Given the description of an element on the screen output the (x, y) to click on. 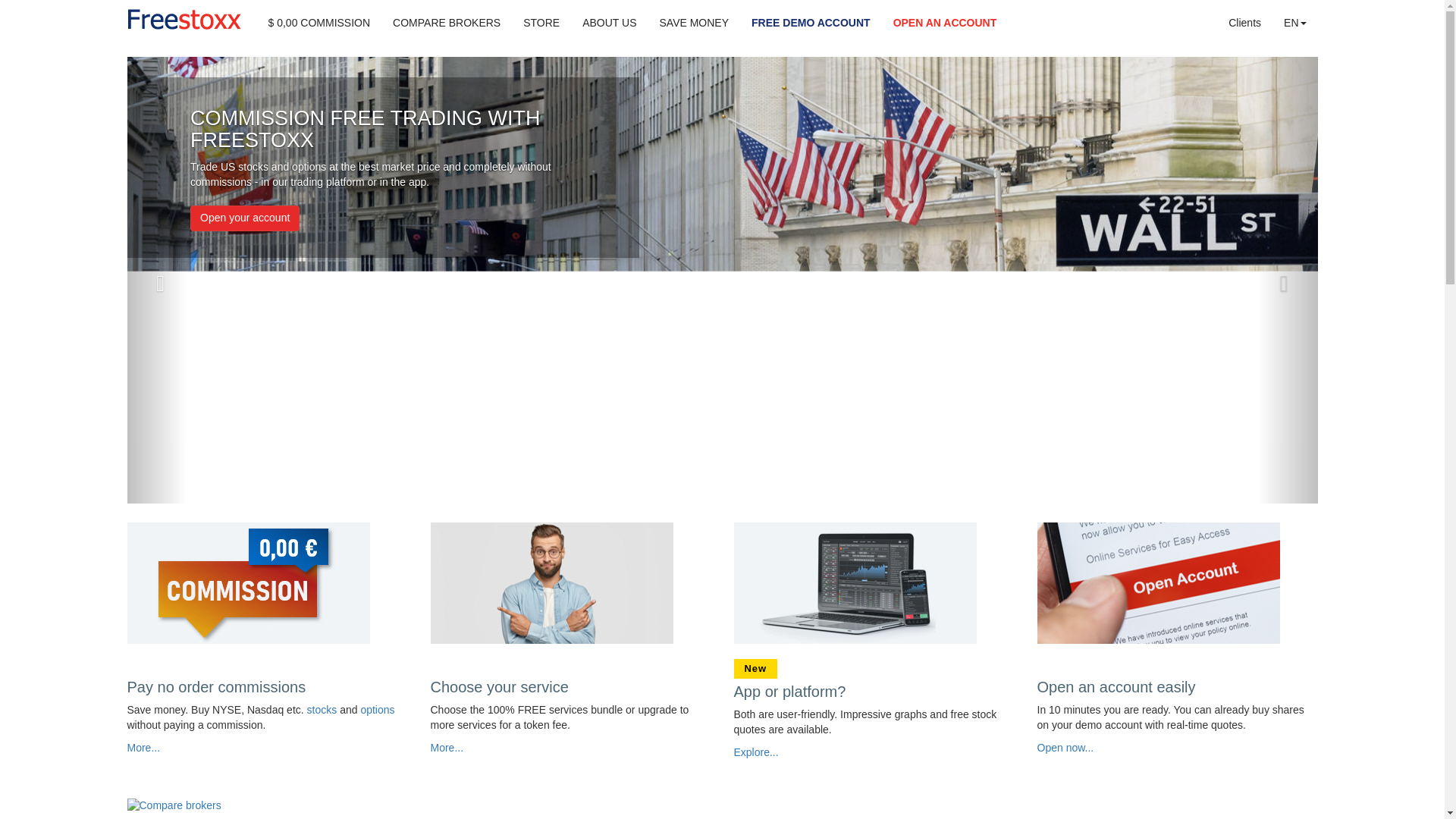
More... (144, 747)
Open your account (244, 217)
EN (1294, 22)
SAVE MONEY (693, 22)
OPEN AN ACCOUNT (945, 22)
Explore... (755, 752)
options (376, 709)
Clients (1244, 22)
Open now... (1065, 747)
STORE (541, 22)
ABOUT US (608, 22)
FREE DEMO ACCOUNT (810, 22)
stocks (322, 709)
More... (447, 747)
COMPARE BROKERS (446, 22)
